Given the description of an element on the screen output the (x, y) to click on. 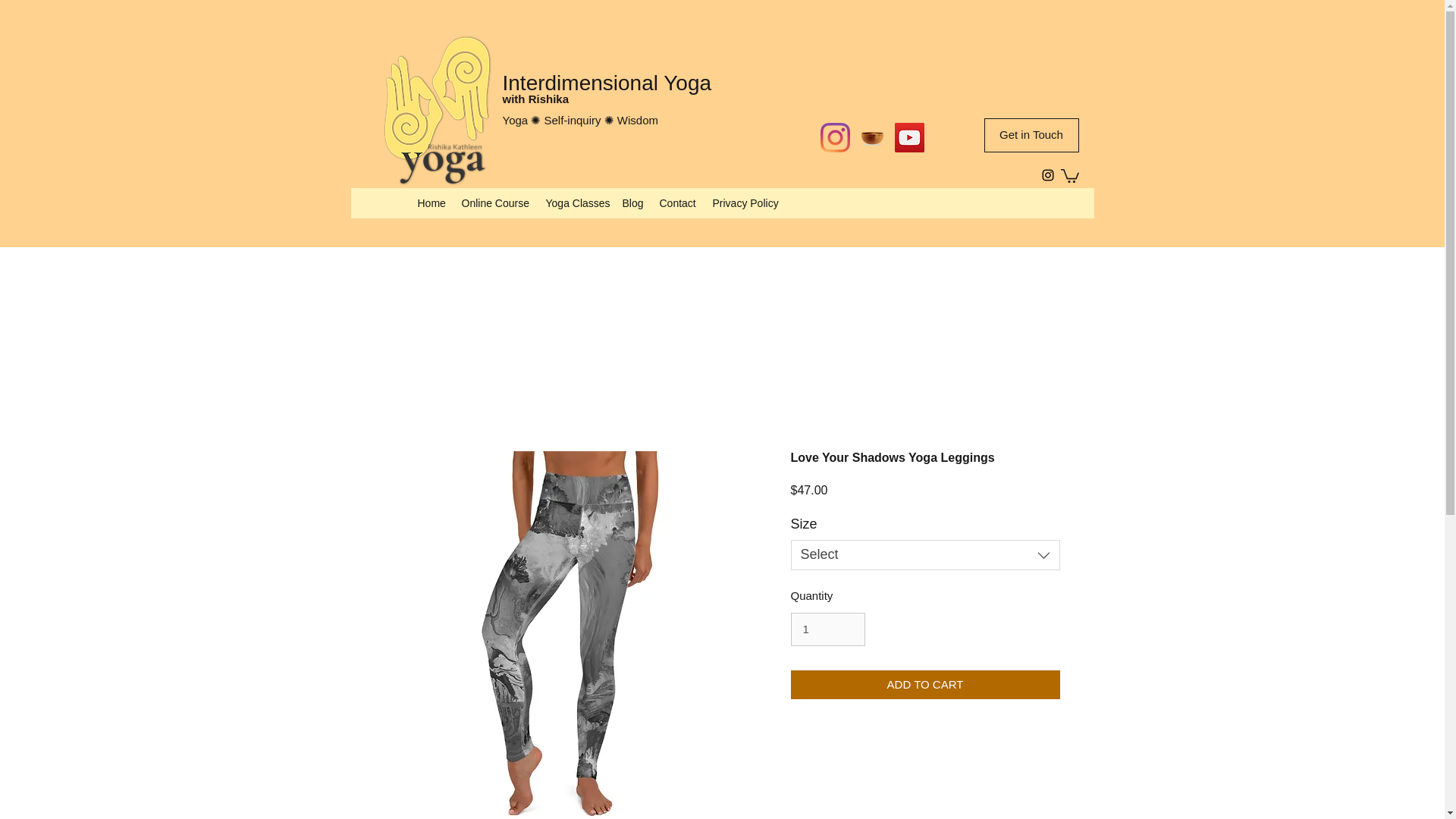
Get in Touch (1031, 134)
Privacy Policy (742, 202)
ADD TO CART (924, 685)
Select (924, 554)
Online Course (494, 202)
Yoga Classes (576, 202)
Home (430, 202)
1 (827, 629)
Blog (632, 202)
Contact (678, 202)
